Given the description of an element on the screen output the (x, y) to click on. 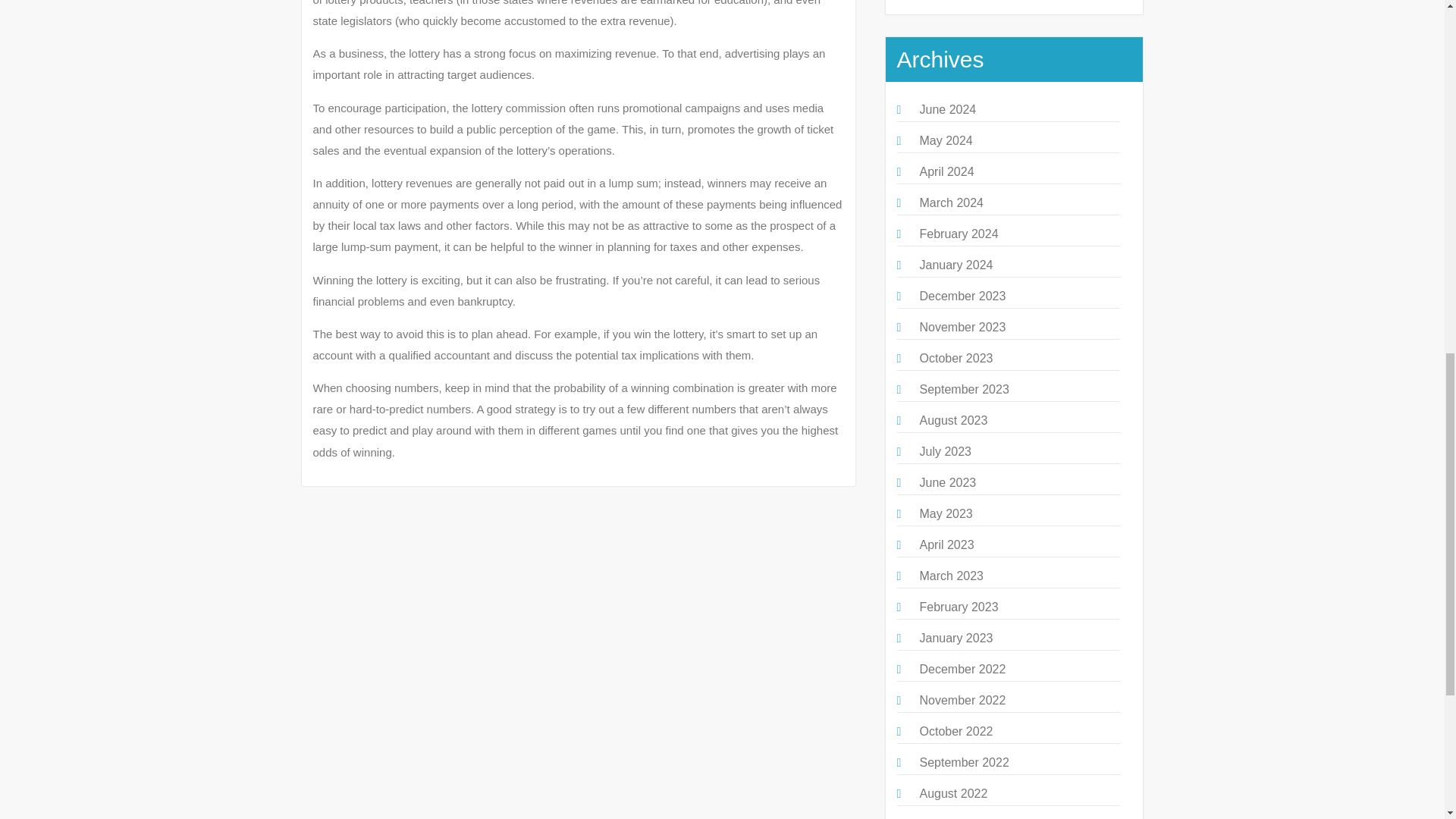
February 2023 (957, 606)
April 2023 (946, 544)
September 2022 (963, 762)
July 2022 (944, 818)
May 2023 (945, 513)
September 2023 (963, 389)
April 2024 (946, 171)
December 2022 (962, 668)
March 2023 (951, 575)
March 2024 (951, 202)
